Given the description of an element on the screen output the (x, y) to click on. 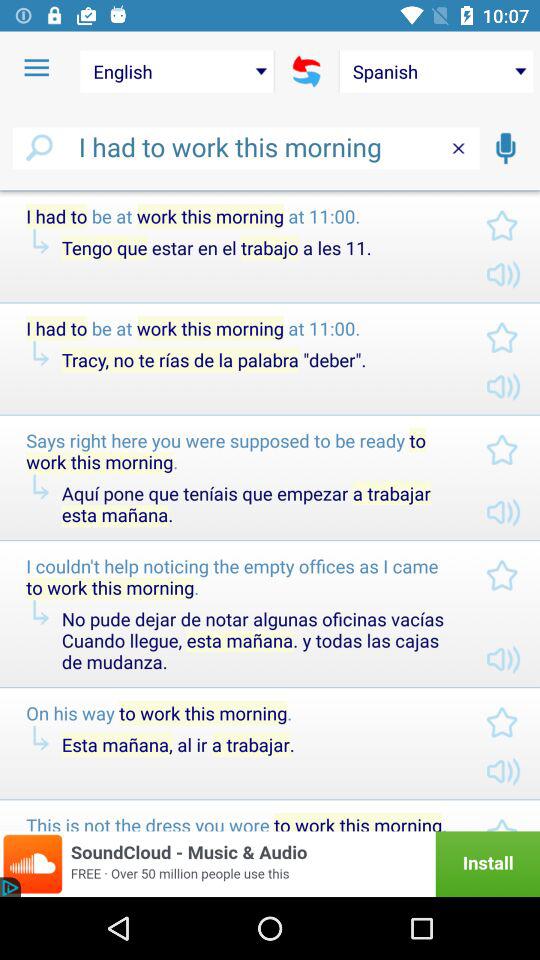
select spanish item (436, 71)
